Given the description of an element on the screen output the (x, y) to click on. 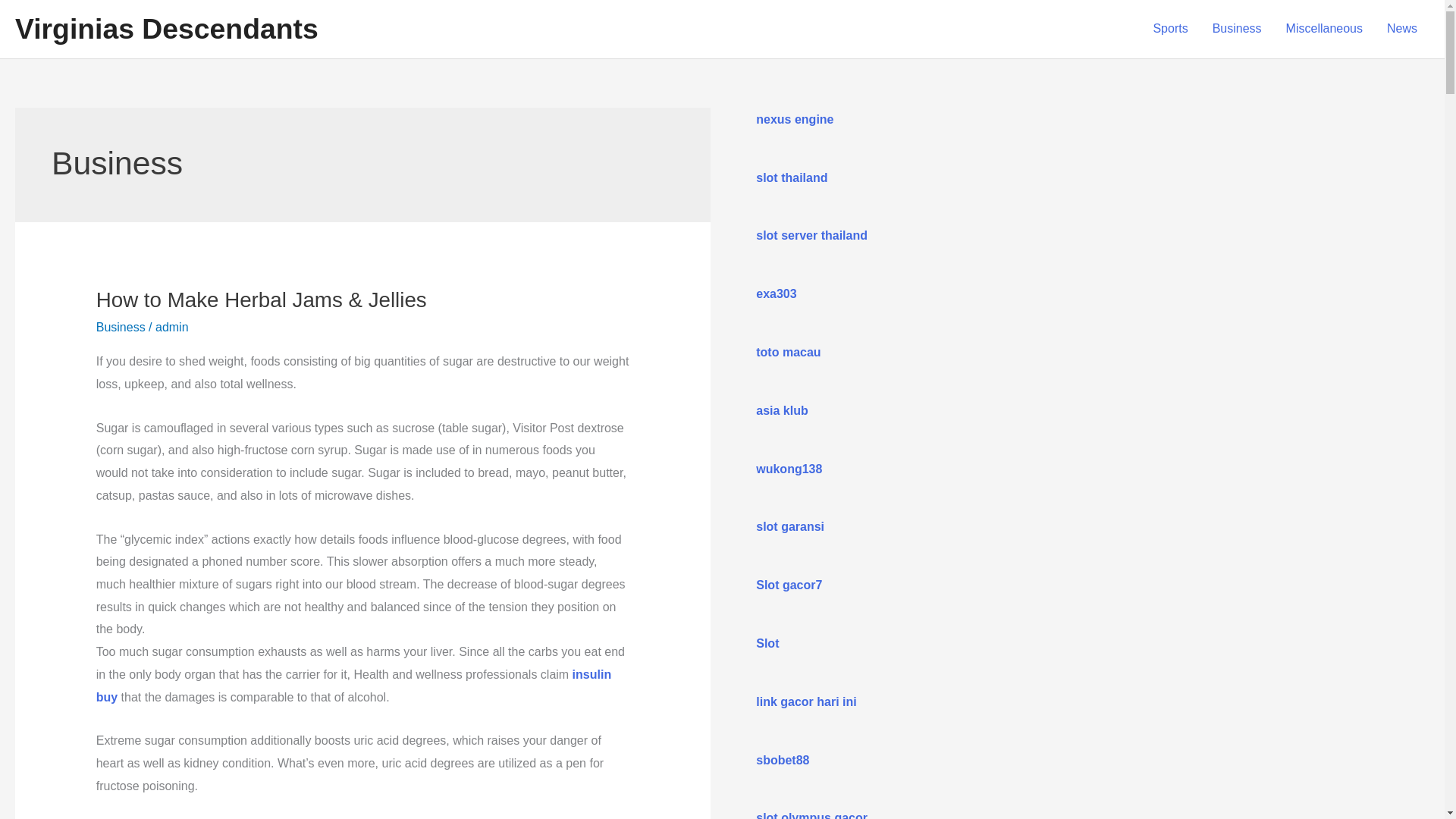
slot thailand (791, 177)
slot server thailand (811, 235)
Business (1236, 28)
nexus engine (793, 119)
insulin buy (353, 685)
Miscellaneous (1324, 28)
View all posts by admin (172, 327)
Virginias Descendants (166, 29)
News (1401, 28)
Sports (1169, 28)
admin (172, 327)
Business (120, 327)
exa303 (775, 293)
